Given the description of an element on the screen output the (x, y) to click on. 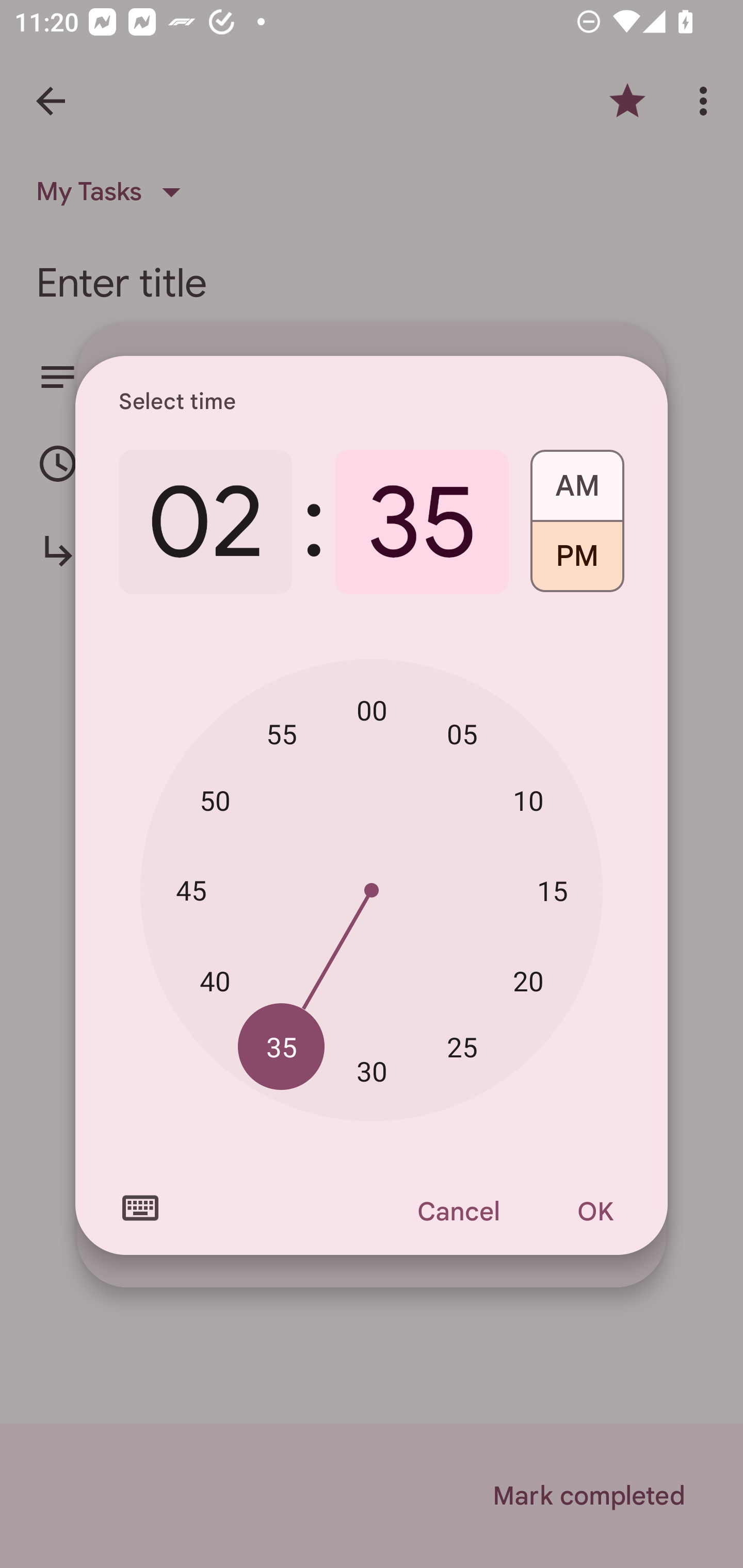
AM (577, 478)
02 2 o'clock (204, 522)
35 35 minutes (421, 522)
PM (577, 563)
00 00 minutes (371, 710)
55 55 minutes (281, 733)
05 05 minutes (462, 733)
50 50 minutes (214, 800)
10 10 minutes (528, 800)
45 45 minutes (190, 889)
15 15 minutes (551, 890)
40 40 minutes (214, 980)
20 20 minutes (528, 980)
35 35 minutes (281, 1046)
25 25 minutes (462, 1046)
30 30 minutes (371, 1071)
Switch to text input mode for the time input. (140, 1208)
Cancel (458, 1211)
OK (595, 1211)
